Given the description of an element on the screen output the (x, y) to click on. 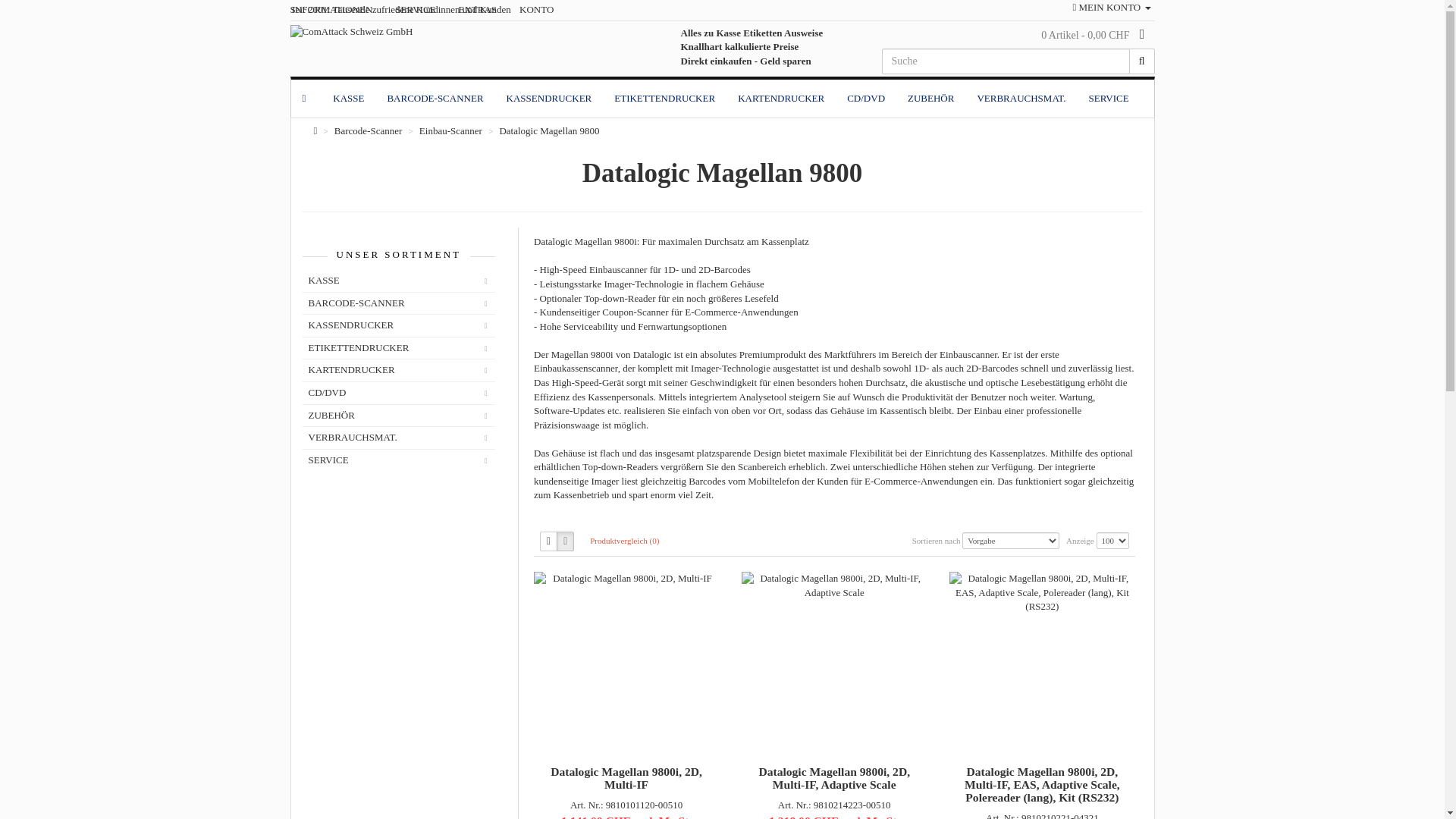
BARCODE-SCANNER Element type: text (434, 98)
MEIN KONTO Element type: text (1112, 6)
CD/DVD Element type: text (865, 98)
KARTENDRUCKER Element type: text (398, 370)
BARCODE-SCANNER Element type: text (398, 303)
KASSE Element type: text (348, 98)
Barcode-Scanner Element type: text (368, 130)
Start Element type: hover (306, 98)
Datalogic Magellan 9800i, 2D, Multi-IF Element type: hover (625, 578)
VERBRAUCHSMAT. Element type: text (1020, 98)
Datalogic Magellan 9800i, 2D, Multi-IF, Adaptive Scale Element type: hover (833, 585)
KASSENDRUCKER Element type: text (398, 325)
Alles zu Kasse Etiketten Ausweise Element type: text (751, 32)
KASSENDRUCKER Element type: text (549, 98)
VERBRAUCHSMAT. Element type: text (398, 437)
0 Artikel - 0,00 CHF Element type: text (1092, 34)
CD/DVD Element type: text (398, 393)
ETIKETTENDRUCKER Element type: text (398, 348)
ETIKETTENDRUCKER Element type: text (664, 98)
Seit 2001: Tausende zufriedene Kundinnen und Kunden Element type: text (399, 9)
Einbau-Scanner Element type: text (450, 130)
Datalogic Magellan 9800i, 2D, Multi-IF Element type: text (626, 777)
SERVICE Element type: text (398, 460)
KARTENDRUCKER Element type: text (780, 98)
Datalogic Magellan 9800 Element type: text (548, 130)
KASSE Element type: text (398, 280)
Produktvergleich (0) Element type: text (624, 540)
Datalogic Magellan 9800i, 2D, Multi-IF, Adaptive Scale Element type: text (834, 777)
SERVICE Element type: text (1108, 98)
ComAttack Schweiz GmbH Element type: hover (350, 32)
Knallhart kalkulierte Preise Element type: text (739, 46)
Direkt einkaufen - Geld sparen Element type: text (745, 60)
